Given the description of an element on the screen output the (x, y) to click on. 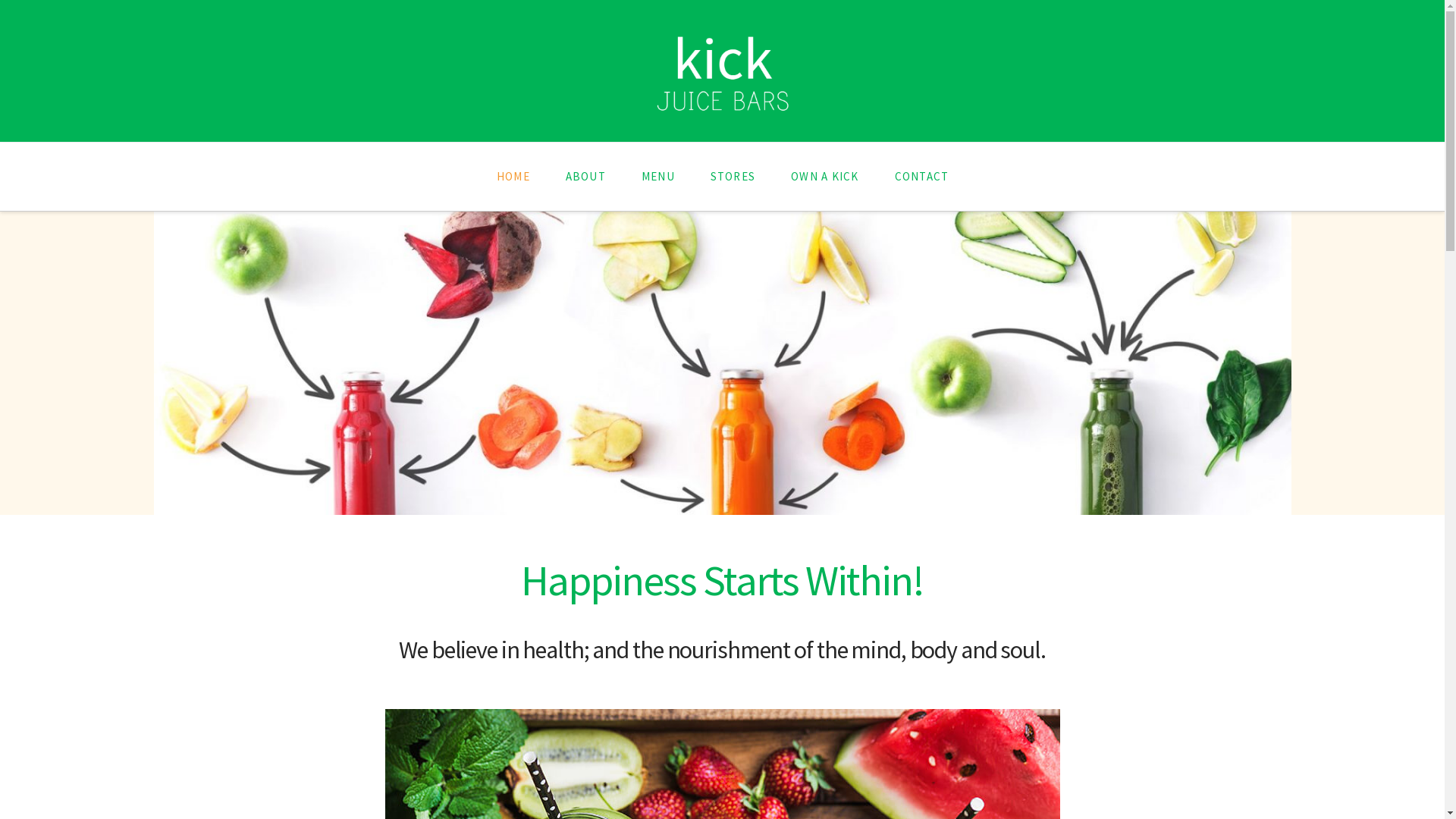
HOME Element type: text (512, 176)
ABOUT Element type: text (585, 176)
STORES Element type: text (732, 176)
OWN A KICK Element type: text (823, 176)
CONTACT Element type: text (921, 176)
MENU Element type: text (657, 176)
